Given the description of an element on the screen output the (x, y) to click on. 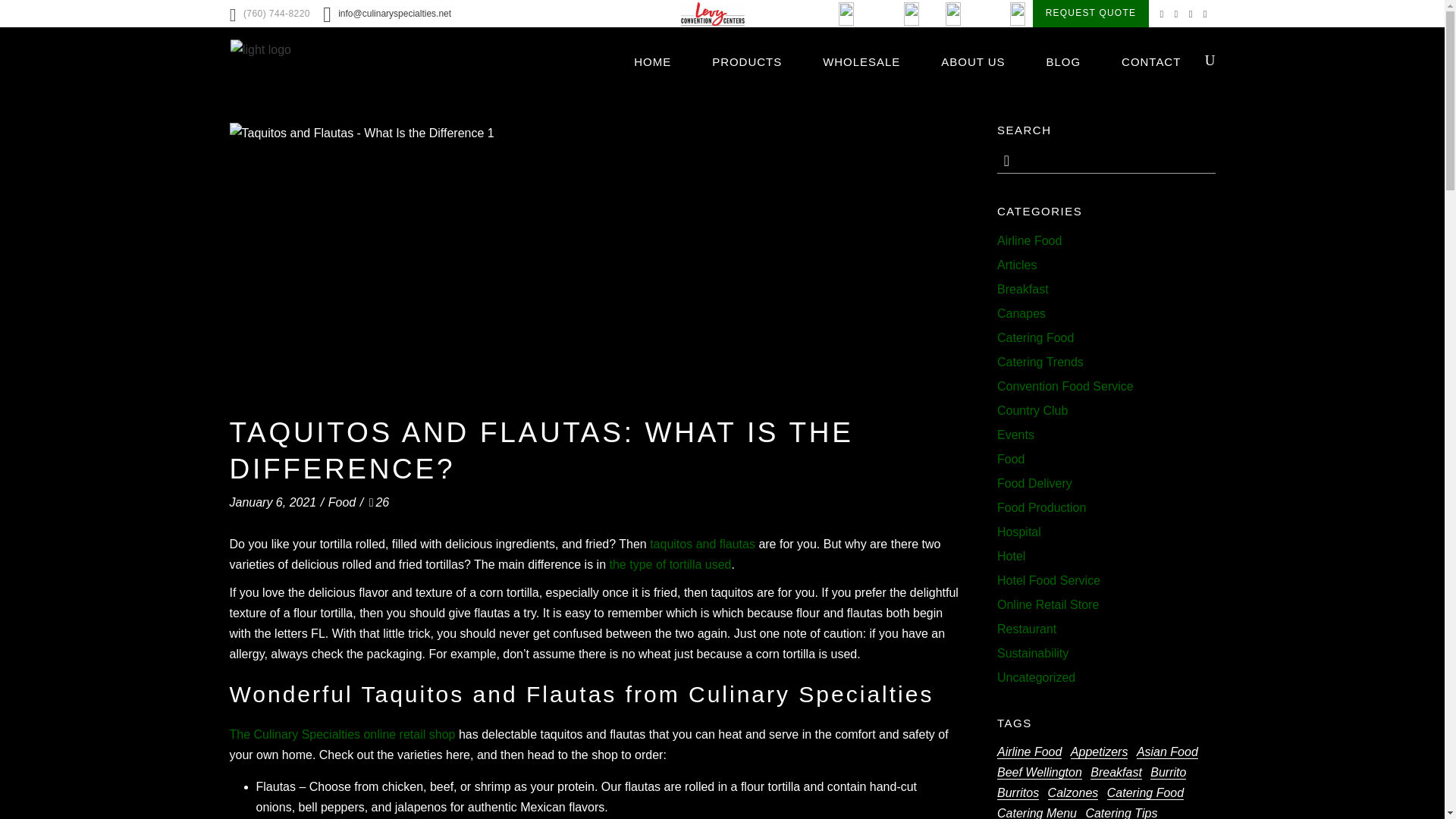
PRODUCTS (746, 61)
Like this (379, 502)
